Given the description of an element on the screen output the (x, y) to click on. 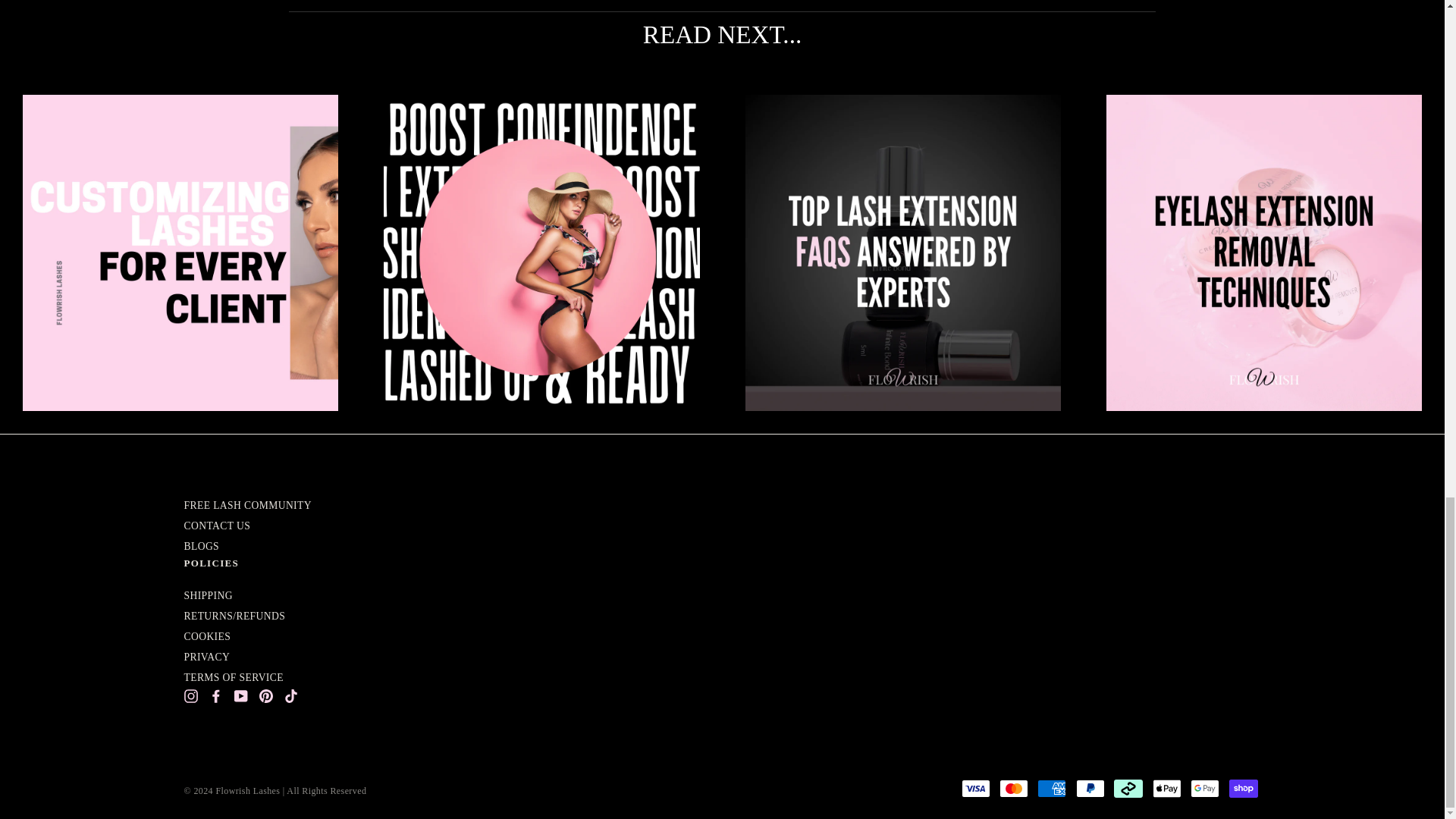
Flowrish Lashes  on Facebook (215, 694)
SHOP PAY (1242, 788)
AMERICAN EXPRESS (1050, 788)
PAYPAL (1090, 788)
MASTERCARD (1012, 788)
Flowrish Lashes  on Pinterest (266, 694)
GOOGLE PAY (1205, 788)
APPLE PAY (1166, 788)
Flowrish Lashes  on YouTube (239, 694)
AFTERPAY (1127, 788)
